Given the description of an element on the screen output the (x, y) to click on. 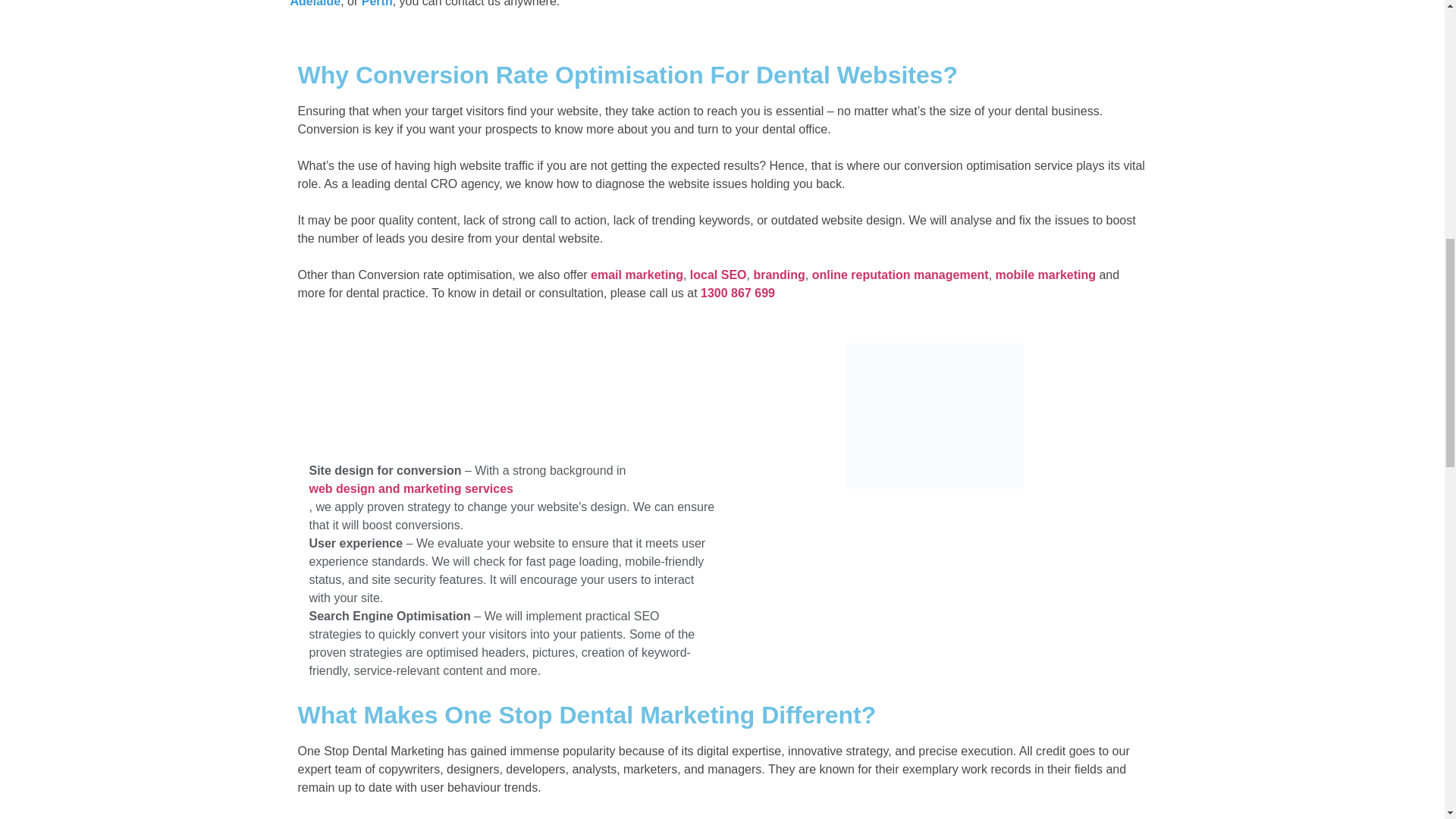
social-media-audit-image (934, 415)
